Given the description of an element on the screen output the (x, y) to click on. 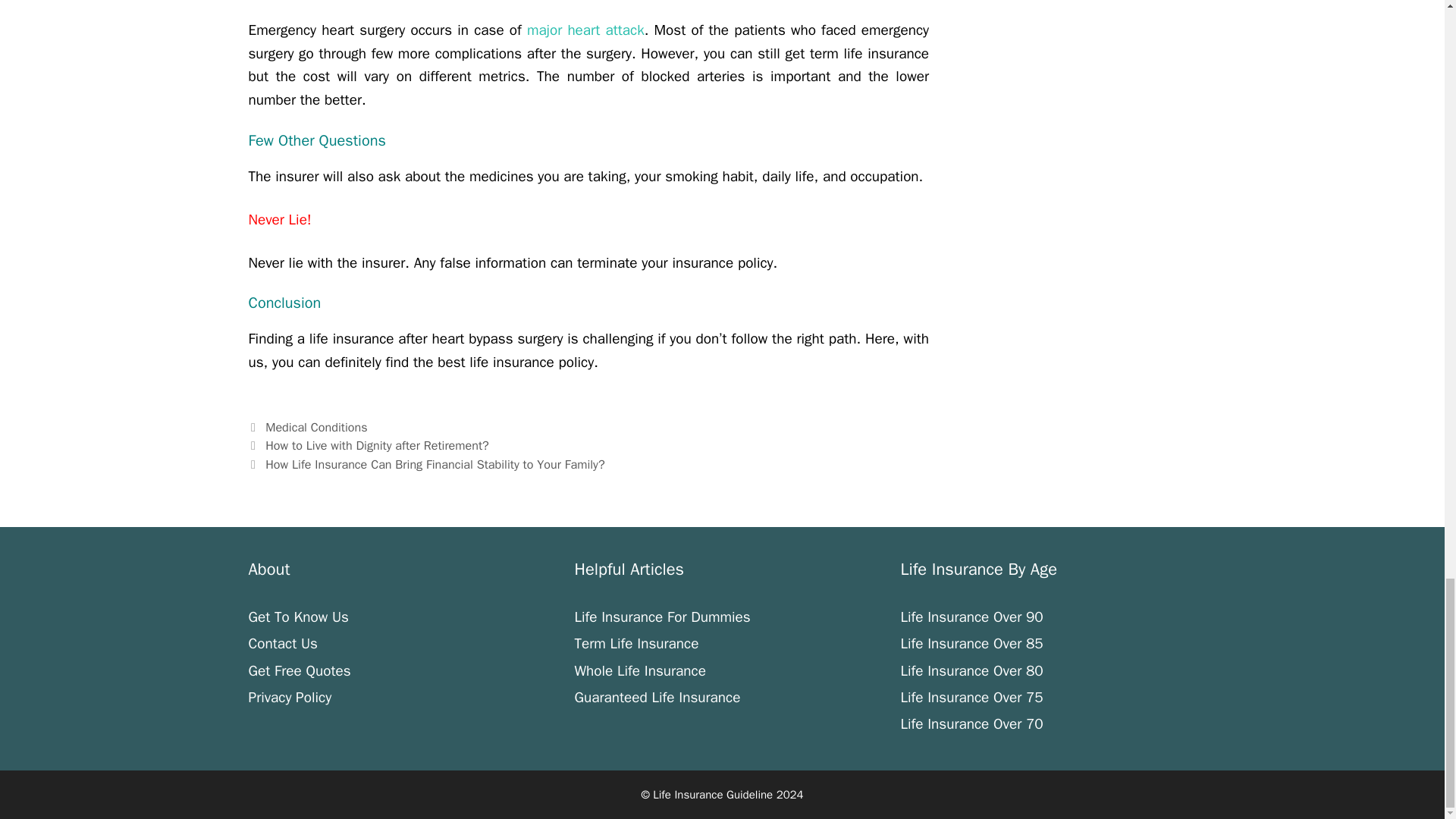
Privacy Policy (289, 697)
Guaranteed Life Insurance (656, 697)
Get To Know Us (298, 617)
Term Life Insurance (635, 643)
Life Insurance For Dummies (661, 617)
Life Insurance Over 85 (970, 643)
How to Live with Dignity after Retirement? (376, 445)
Life Insurance Over 90 (970, 617)
major heart attack (586, 30)
Contact Us (282, 643)
